Given the description of an element on the screen output the (x, y) to click on. 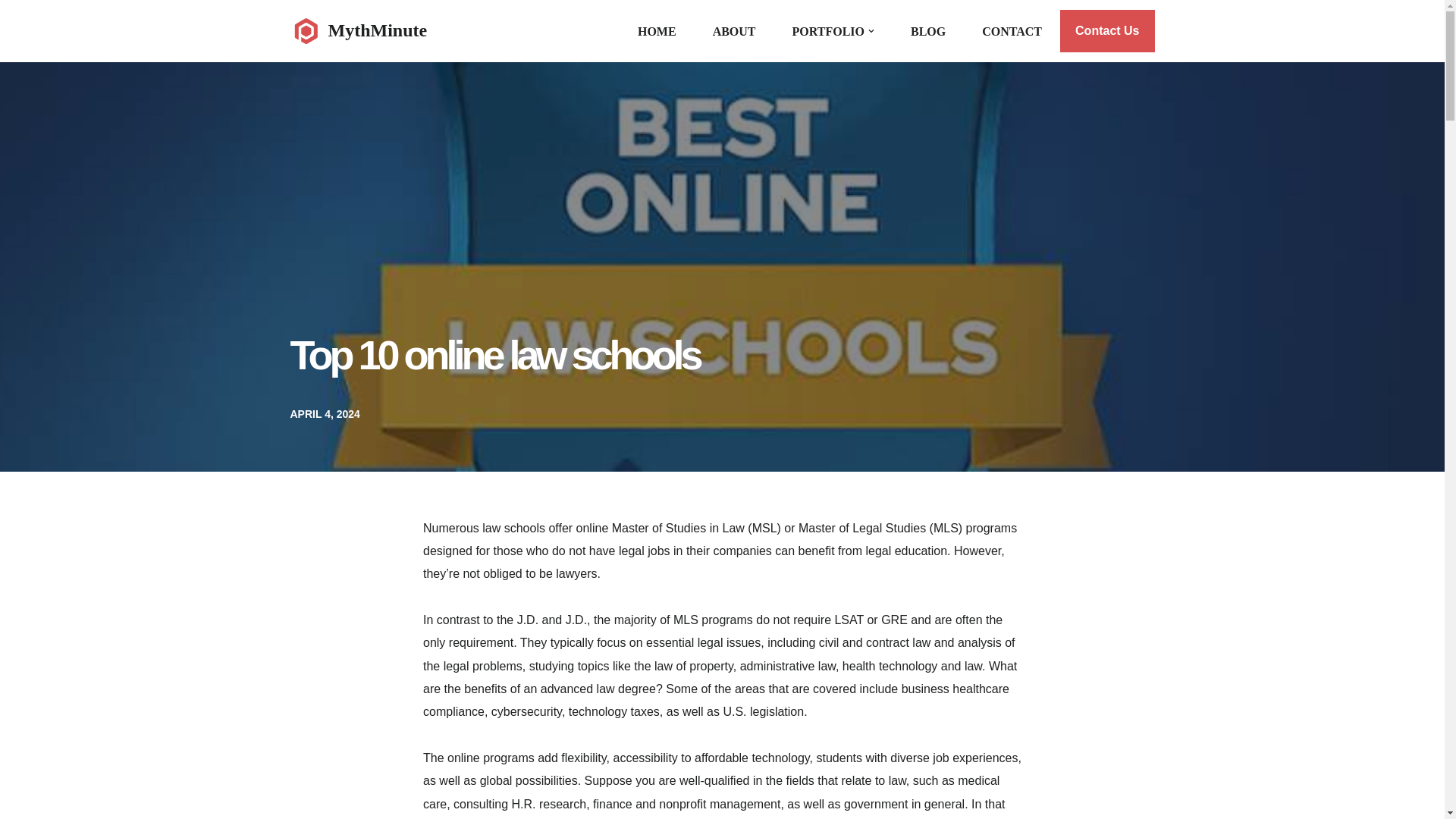
PORTFOLIO (828, 31)
Contact Us (1106, 30)
HOME (657, 31)
BLOG (927, 31)
Skip to content (11, 31)
CONTACT (1011, 31)
MythMinute (357, 30)
ABOUT (734, 31)
